Given the description of an element on the screen output the (x, y) to click on. 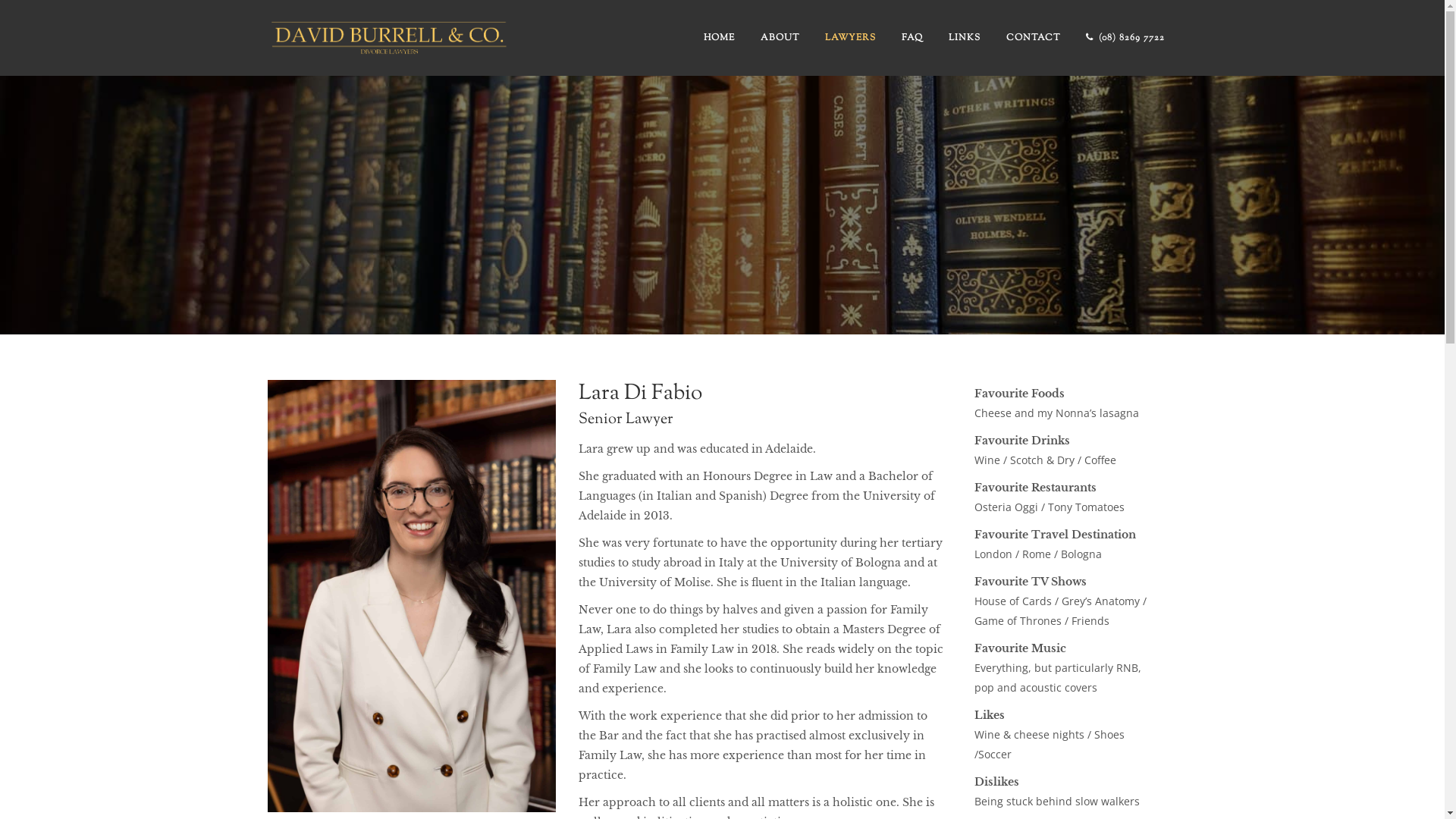
(08) 8269 7722 Element type: text (1124, 37)
ABOUT Element type: text (779, 37)
CONTACT Element type: text (1033, 37)
LINKS Element type: text (964, 37)
FAQ Element type: text (911, 37)
HOME Element type: text (718, 37)
LAWYERS Element type: text (849, 37)
